Given the description of an element on the screen output the (x, y) to click on. 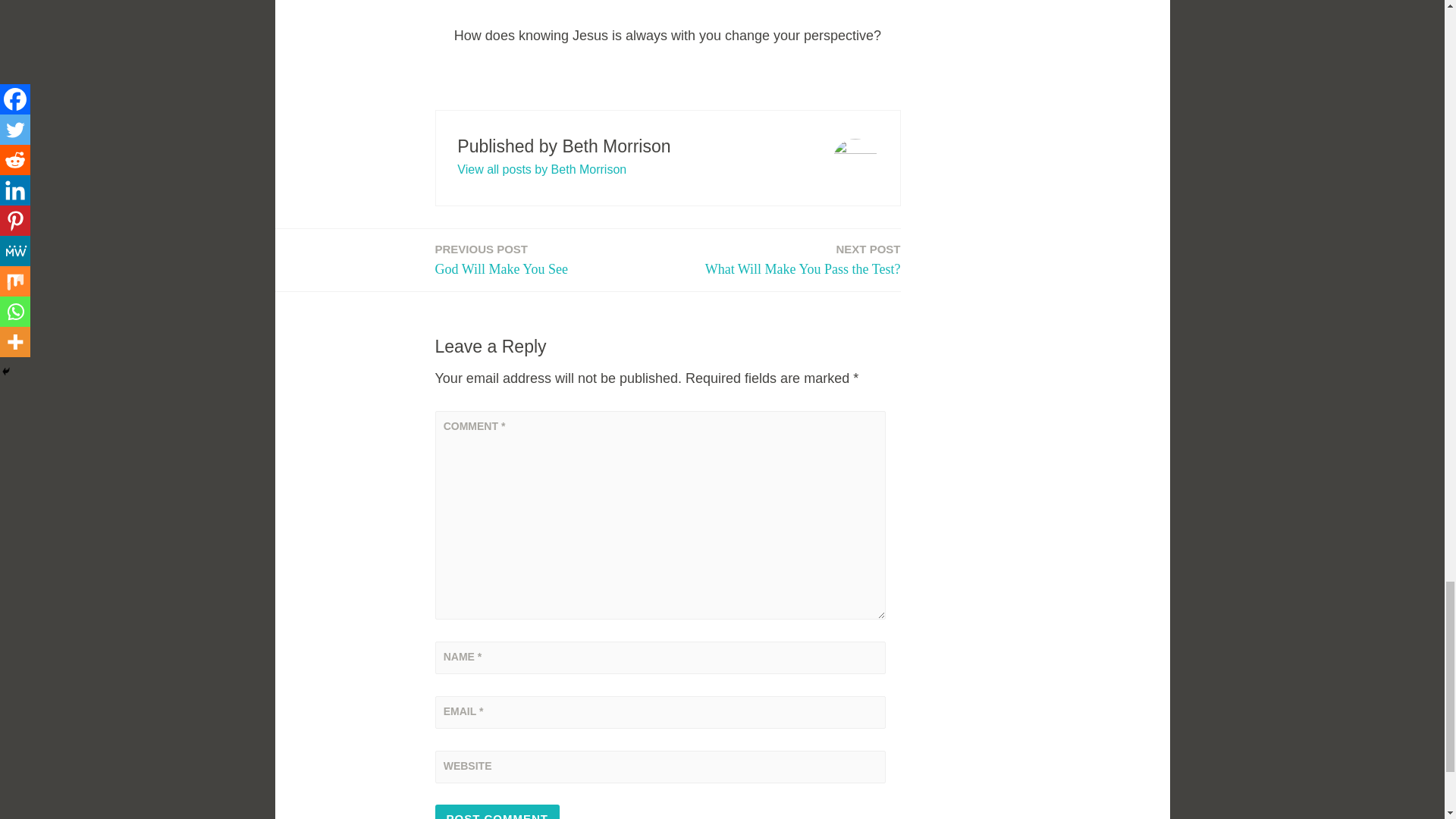
Post Comment (497, 811)
View all posts by Beth Morrison (501, 260)
Post Comment (802, 260)
